Given the description of an element on the screen output the (x, y) to click on. 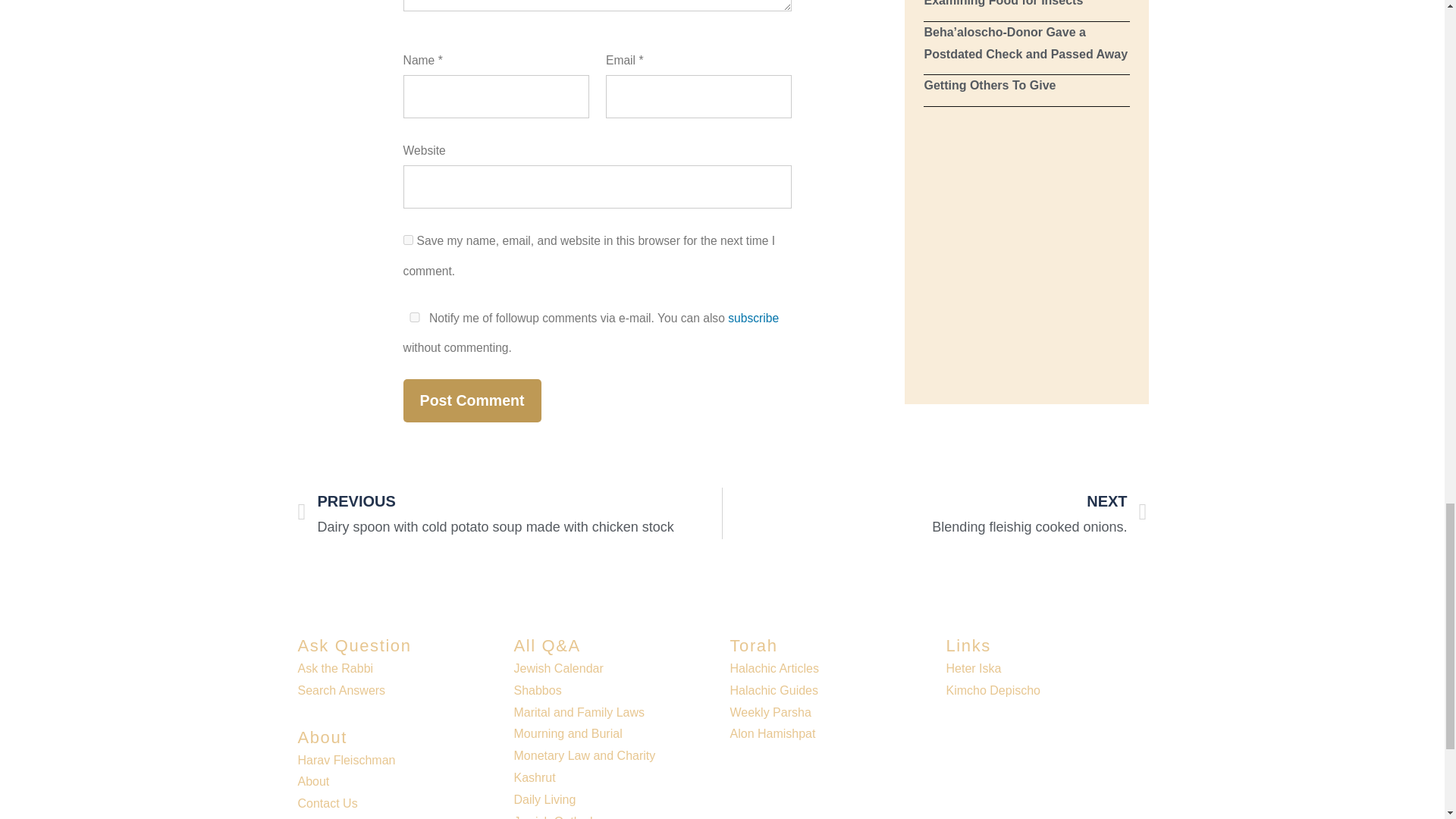
yes (414, 317)
yes (408, 239)
Post Comment (472, 400)
